Given the description of an element on the screen output the (x, y) to click on. 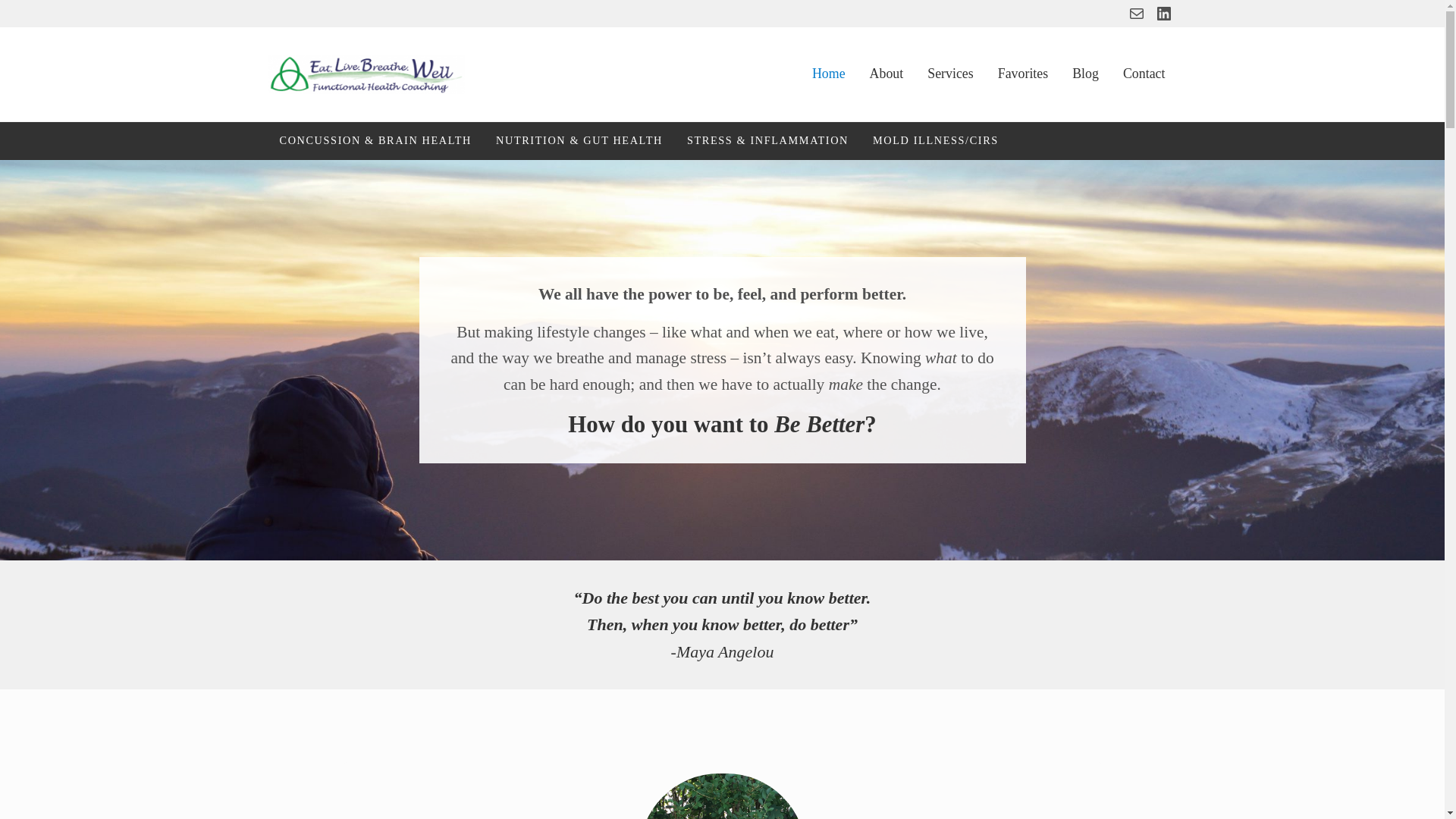
About (886, 74)
Mail (1136, 13)
Favorites (1022, 74)
Services (950, 74)
Contact (1143, 74)
LinkedIn (1163, 13)
Blog (1084, 74)
Home (828, 74)
